Given the description of an element on the screen output the (x, y) to click on. 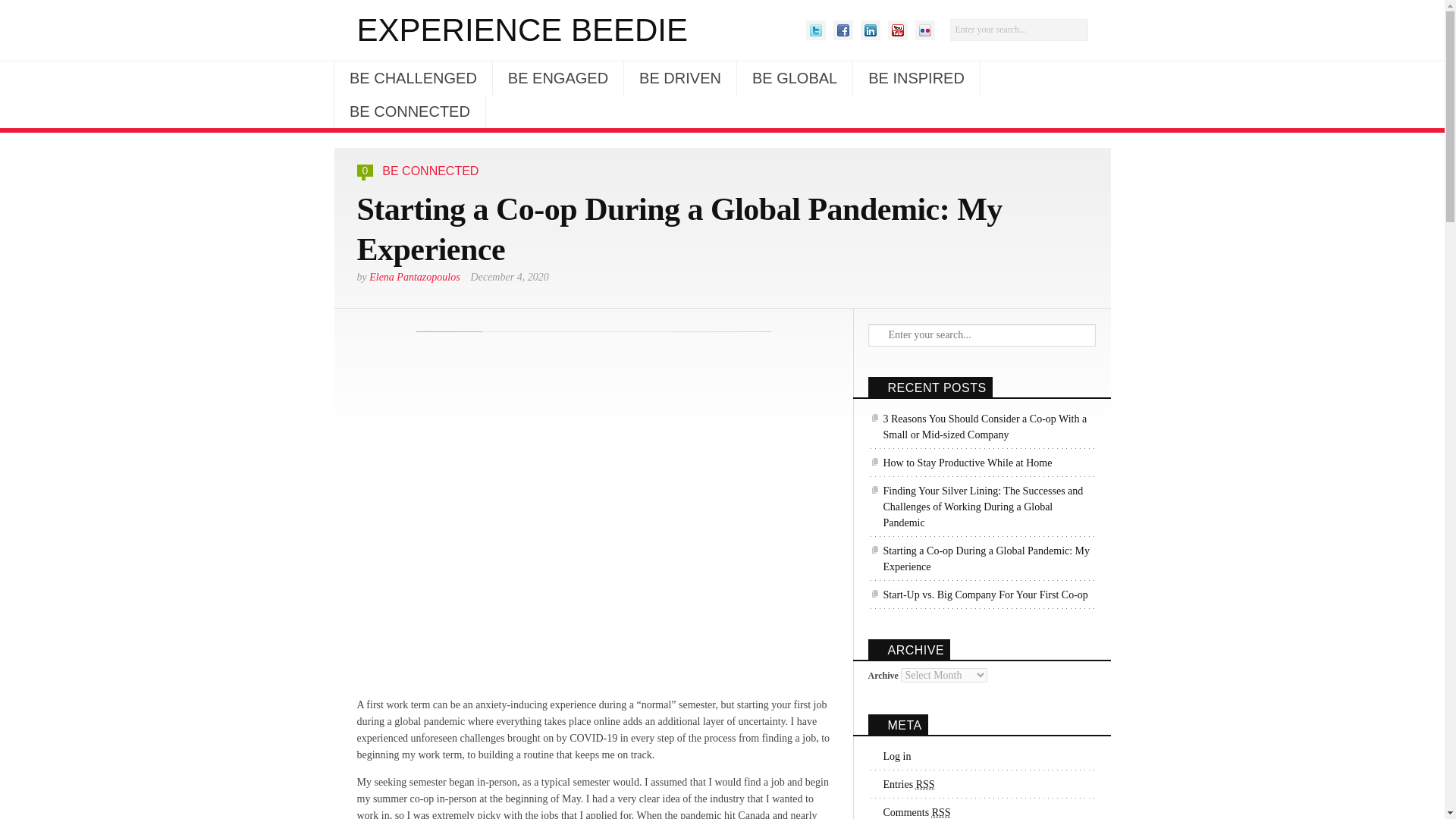
Really Simple Syndication (924, 784)
0 (365, 170)
BE INSPIRED (916, 78)
Really Simple Syndication (940, 812)
BE GLOBAL (793, 78)
BE DRIVEN (680, 78)
Log in (889, 756)
BE CONNECTED (430, 170)
Starting a Co-op During a Global Pandemic: My Experience (980, 558)
How to Stay Productive While at Home (959, 462)
Enter your search... (989, 334)
BE CONNECTED (409, 111)
Comments RSS (908, 811)
Entries RSS (900, 784)
